Given the description of an element on the screen output the (x, y) to click on. 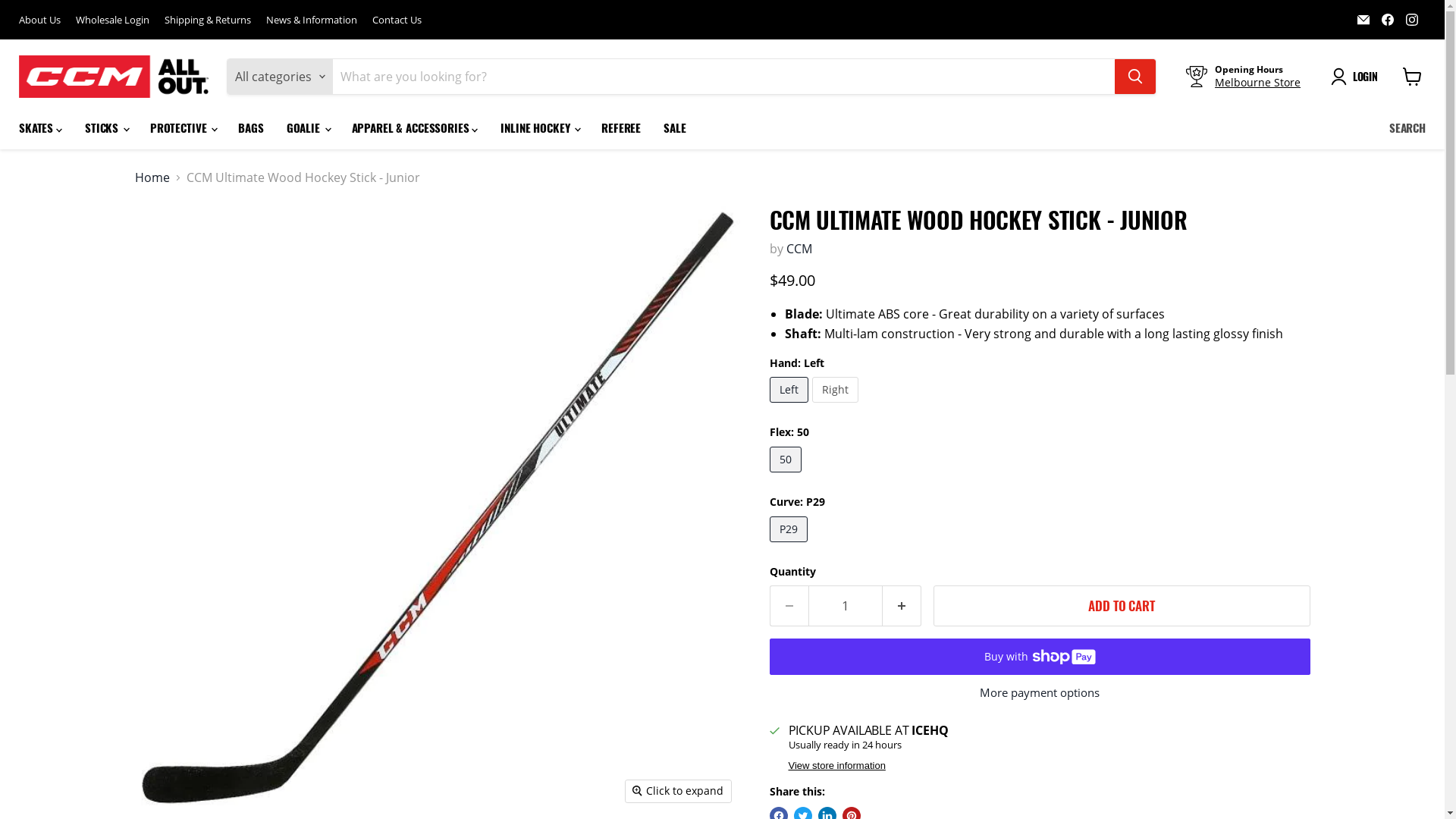
More payment options Element type: text (1038, 692)
Email CCM AUSTRALIA Element type: text (1363, 19)
SALE Element type: text (674, 127)
Find us on Facebook Element type: text (1387, 19)
SEARCH Element type: text (1407, 127)
Home Element type: text (151, 177)
Shipping & Returns Element type: text (207, 19)
Contact Us Element type: text (396, 19)
LOGIN Element type: text (1356, 76)
News & Information Element type: text (311, 19)
View cart Element type: text (1412, 76)
Melbourne Store Element type: text (1257, 82)
CCM Element type: text (798, 248)
ADD TO CART Element type: text (1120, 605)
View store information Element type: text (836, 765)
REFEREE Element type: text (620, 127)
Find us on Instagram Element type: text (1411, 19)
BAGS Element type: text (250, 127)
Wholesale Login Element type: text (112, 19)
About Us Element type: text (39, 19)
Click to expand Element type: text (678, 790)
